Given the description of an element on the screen output the (x, y) to click on. 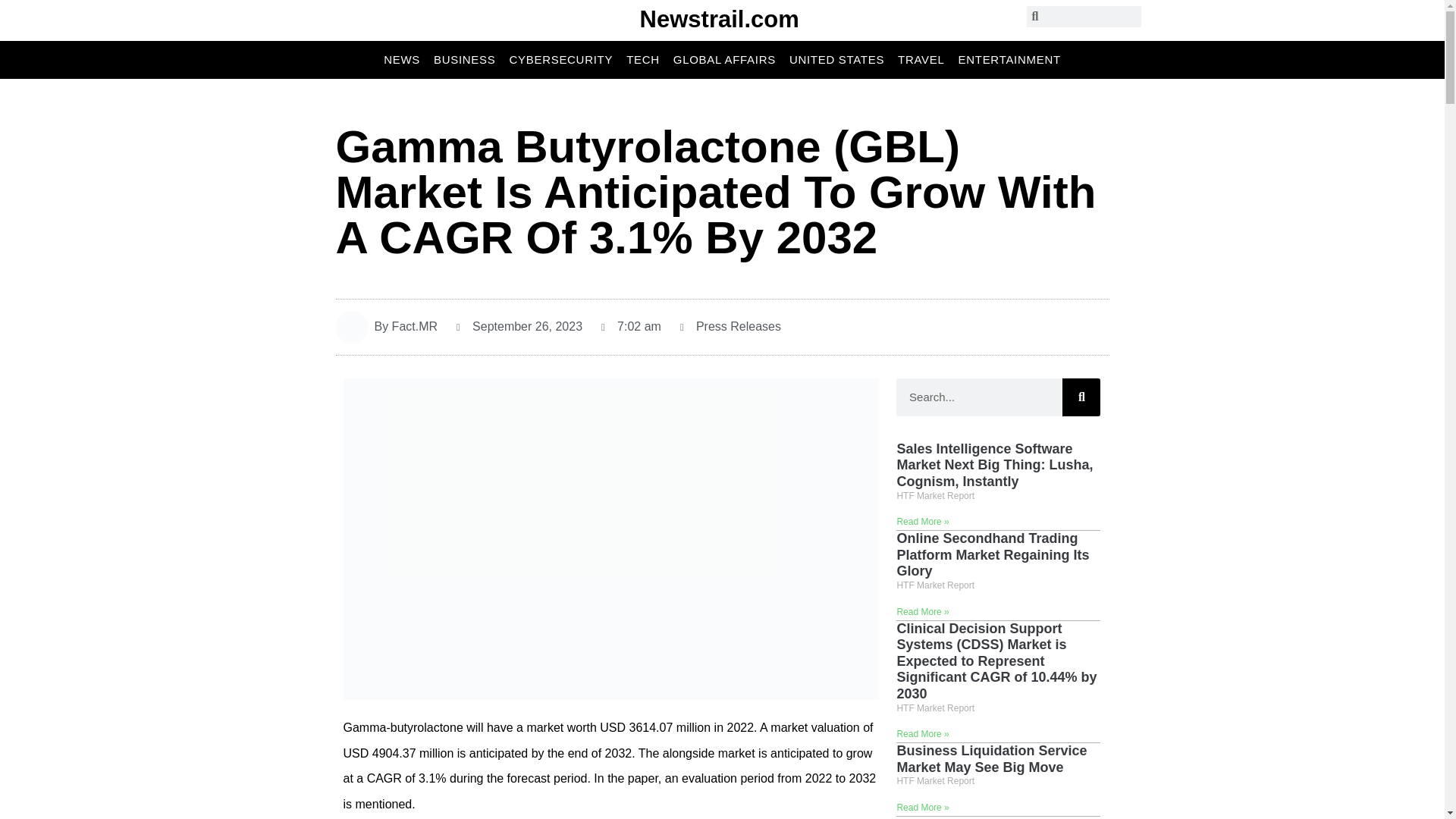
UNITED STATES (836, 59)
TRAVEL (921, 59)
BUSINESS (463, 59)
ENTERTAINMENT (1009, 59)
Newstrail.com (719, 18)
CYBERSECURITY (560, 59)
TECH (642, 59)
NEWS (401, 59)
GLOBAL AFFAIRS (723, 59)
